Given the description of an element on the screen output the (x, y) to click on. 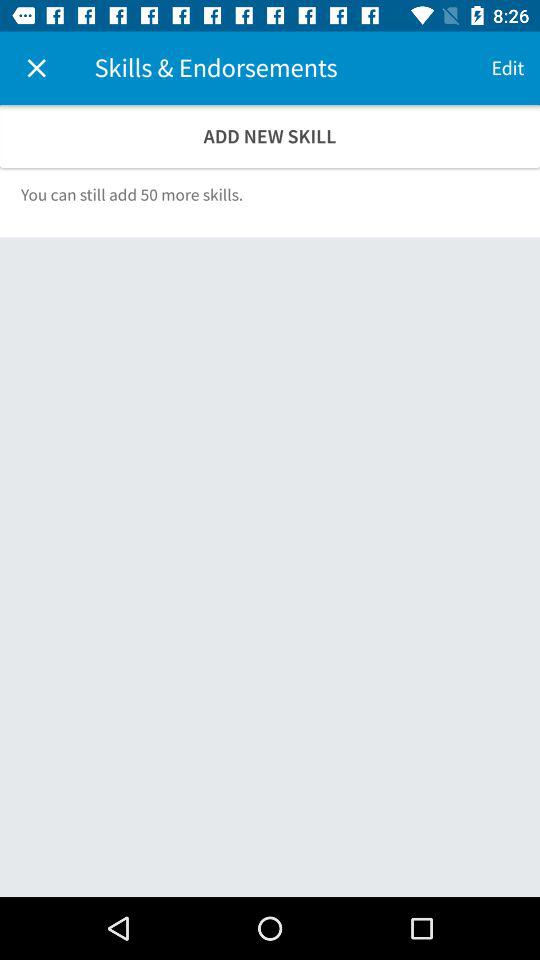
choose the item above add new skill icon (36, 68)
